Given the description of an element on the screen output the (x, y) to click on. 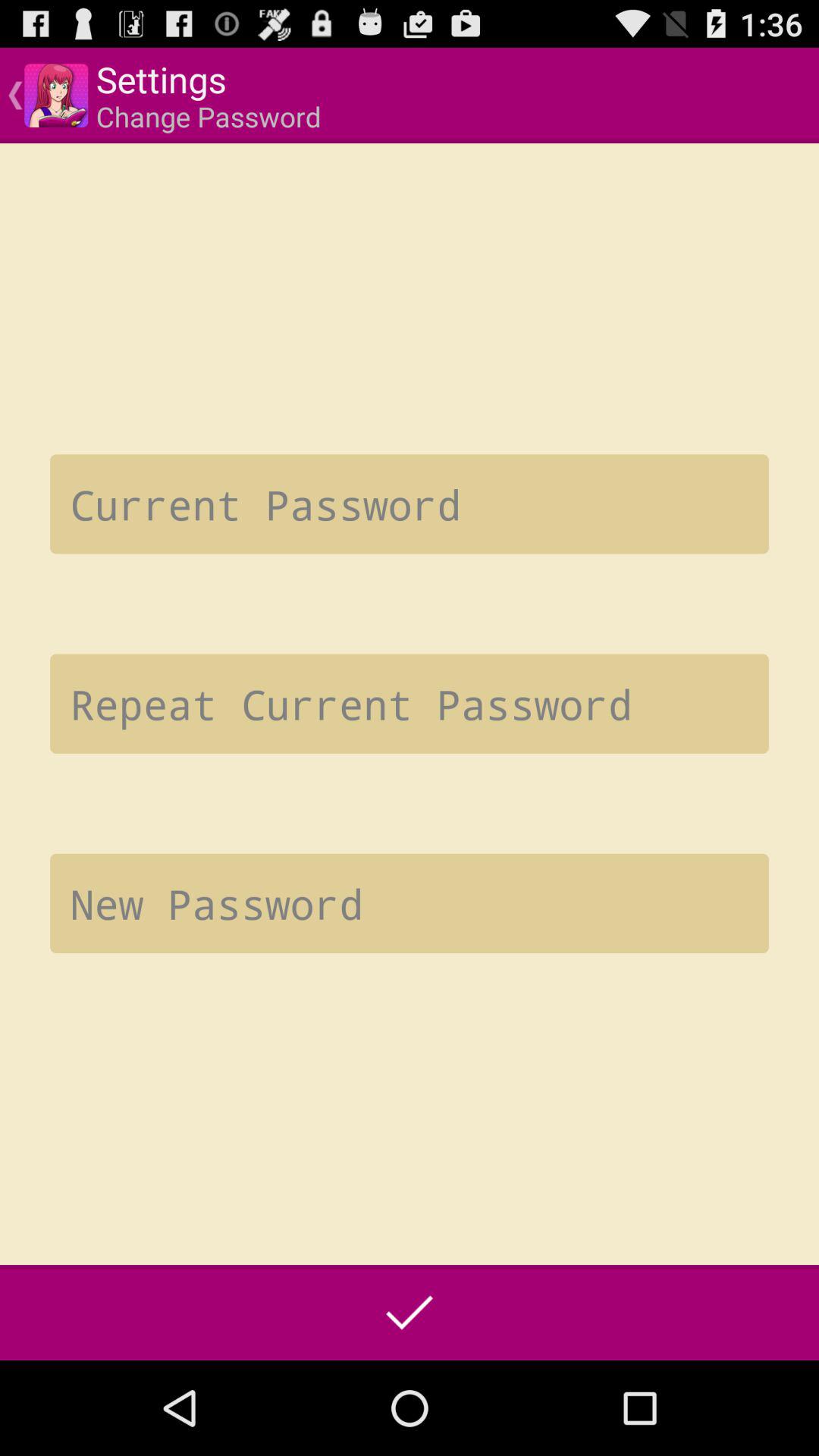
type the current password (409, 503)
